Given the description of an element on the screen output the (x, y) to click on. 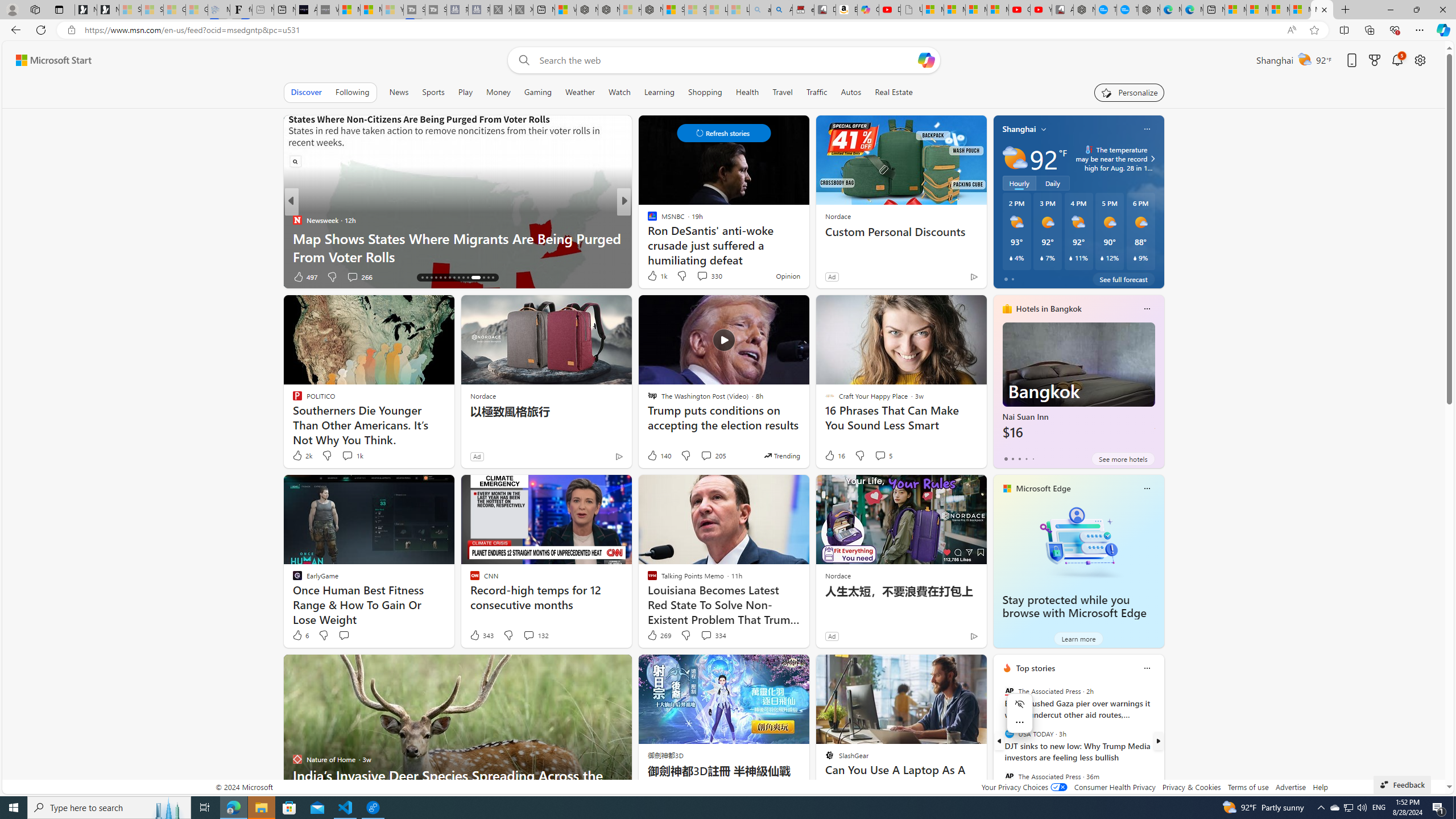
Business Insider (296, 219)
Gaming (537, 92)
Travel (782, 92)
Play (465, 92)
91 Like (303, 276)
Hide menu (1019, 704)
tab-2 (1019, 458)
